Given the description of an element on the screen output the (x, y) to click on. 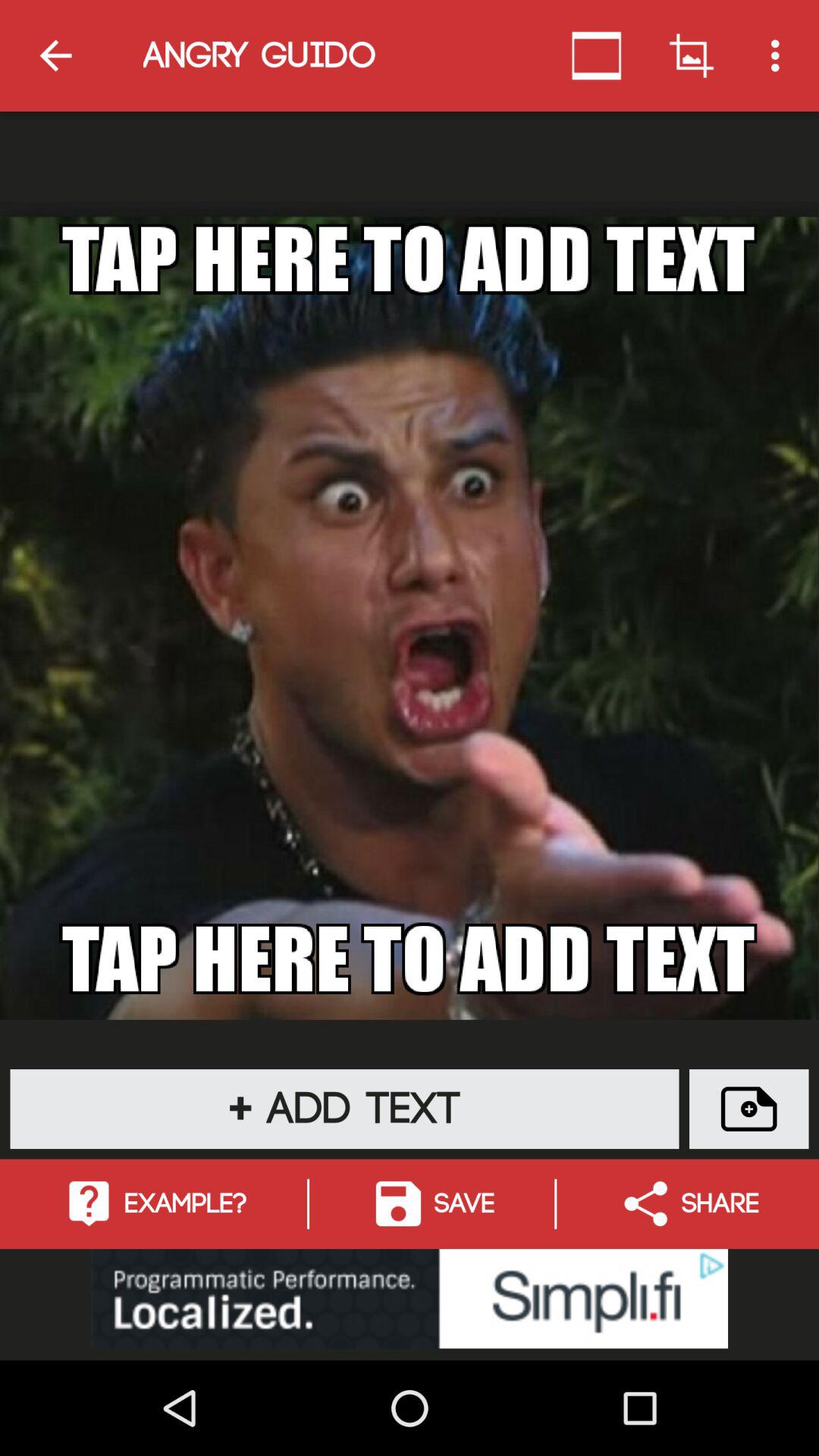
advertisement (409, 1298)
